Given the description of an element on the screen output the (x, y) to click on. 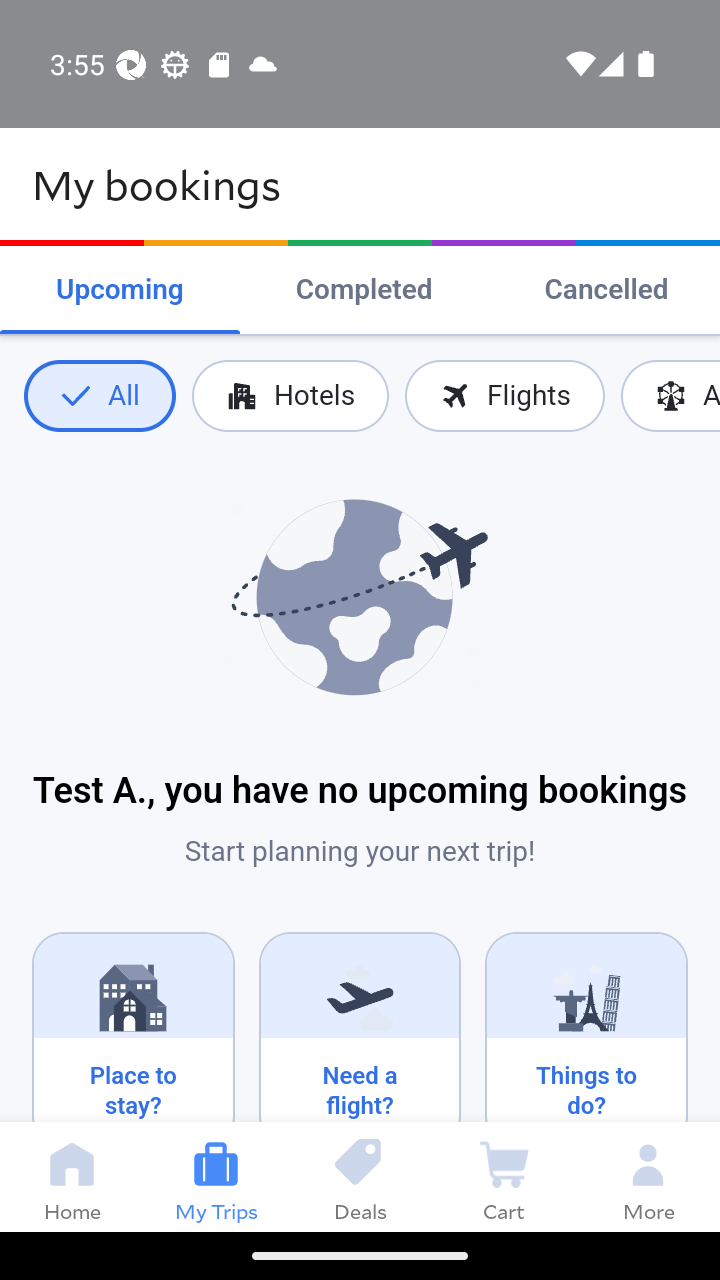
Upcoming (119, 289)
Completed (363, 289)
Cancelled (606, 289)
All (99, 395)
Hotels (290, 395)
Flights (504, 395)
Activities (669, 395)
Home (72, 1176)
My Trips (216, 1176)
Deals (360, 1176)
Cart (504, 1176)
More (648, 1176)
